Given the description of an element on the screen output the (x, y) to click on. 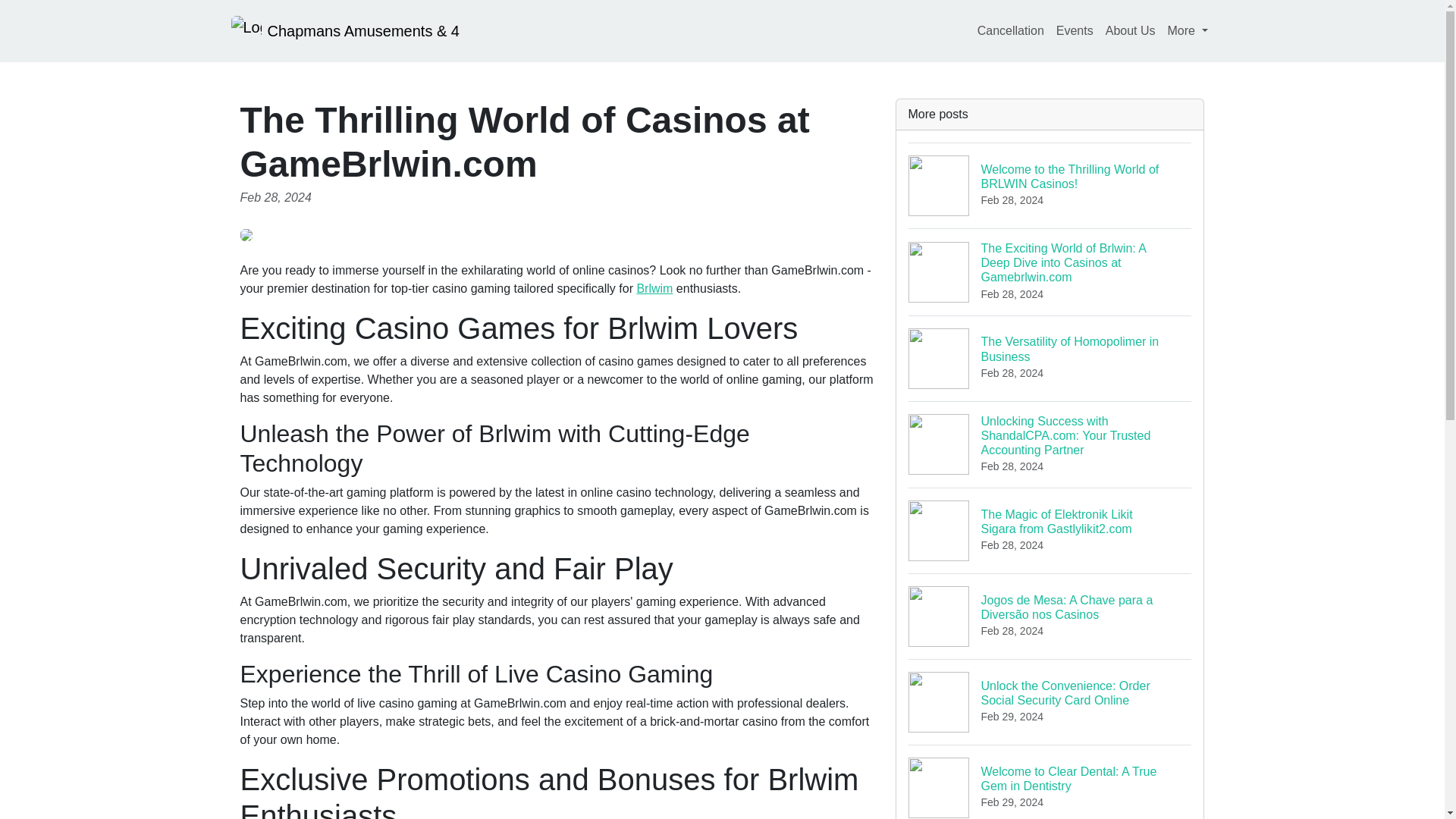
Cancellation (1050, 358)
Brlwim (1010, 30)
About Us (654, 287)
More (1130, 30)
